Given the description of an element on the screen output the (x, y) to click on. 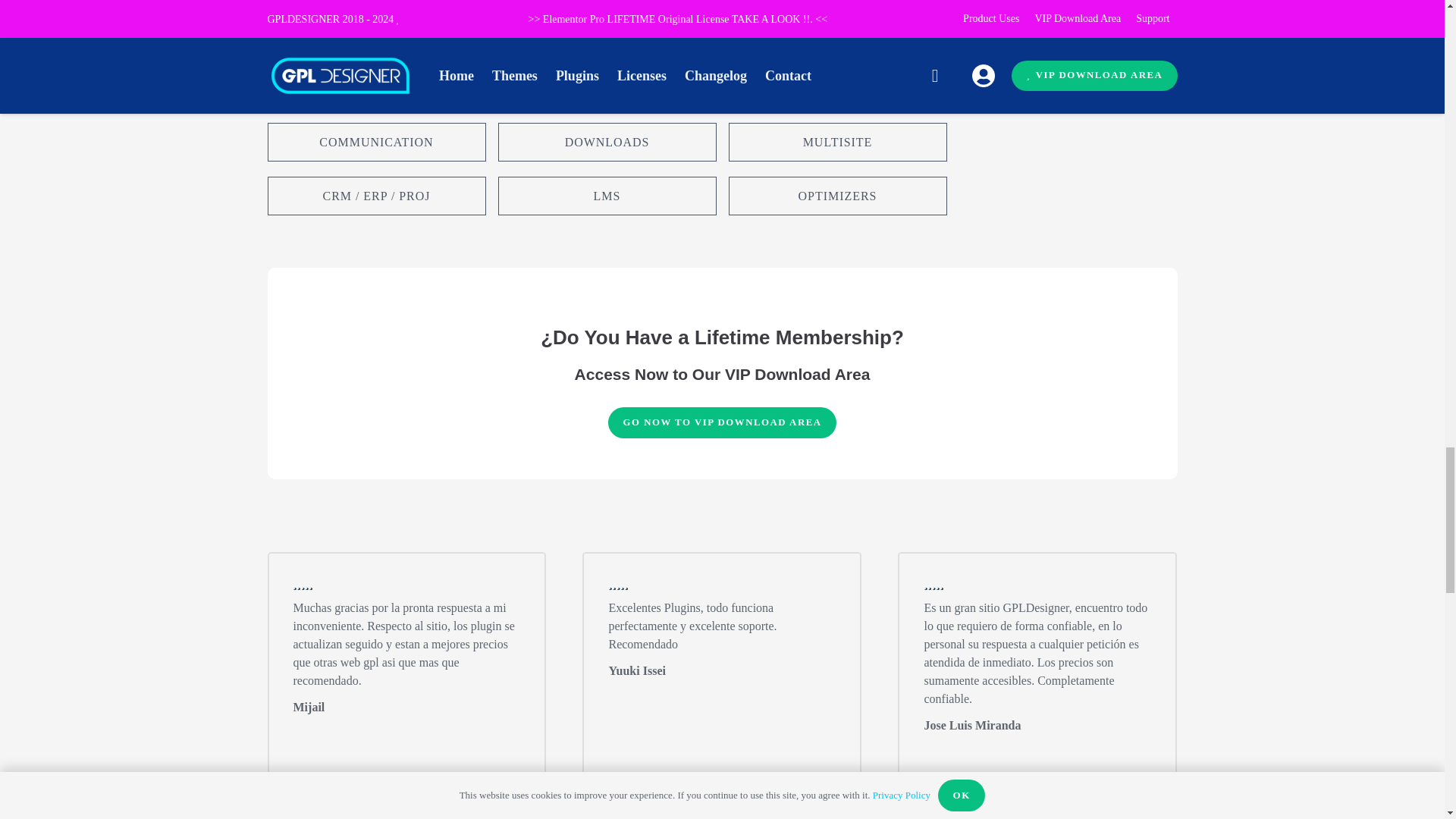
VIP Download Area (721, 422)
